Given the description of an element on the screen output the (x, y) to click on. 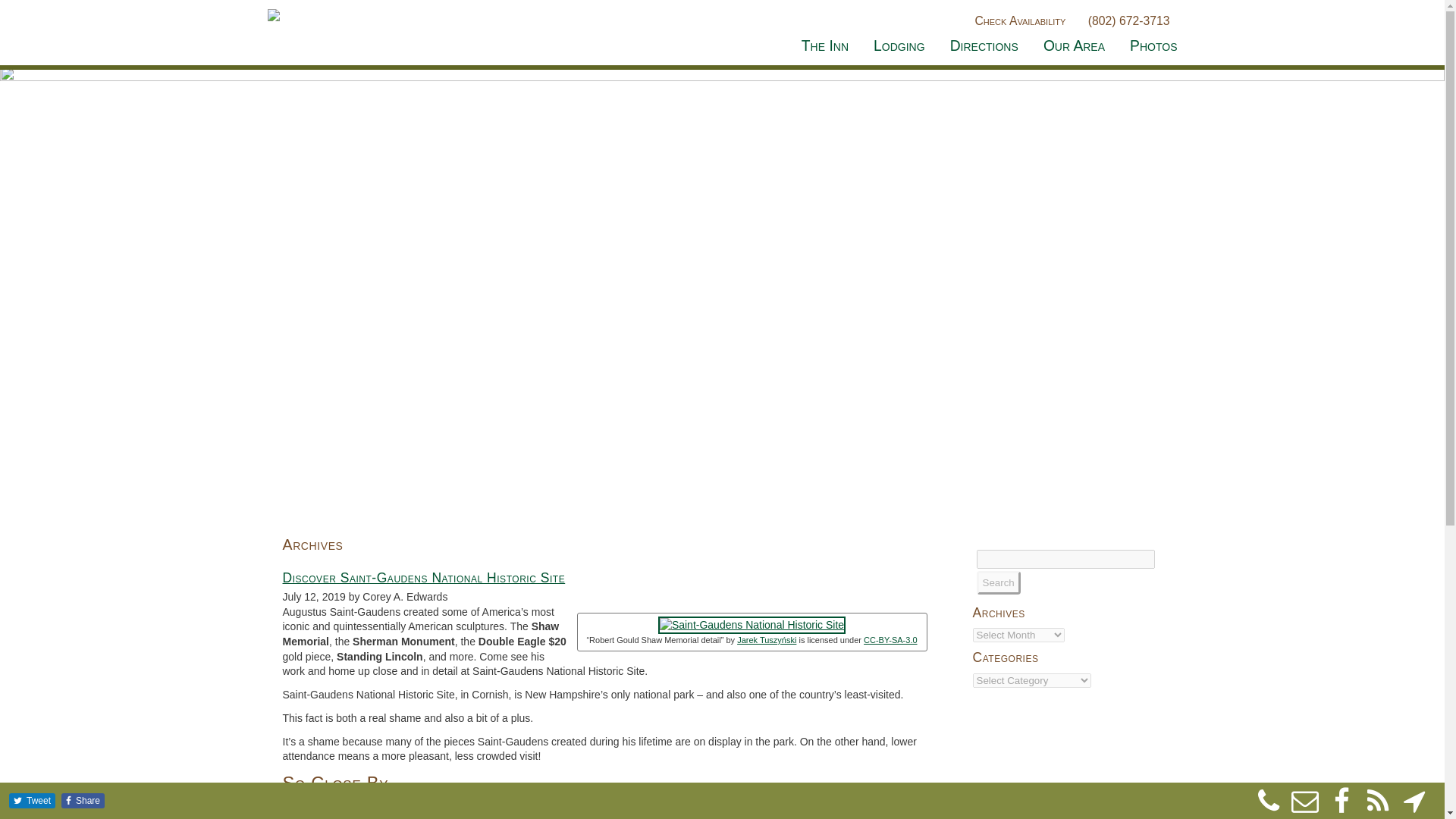
CC-BY-SA-3.0 (890, 639)
Search (998, 582)
Photos (1147, 46)
Check Availability (1018, 20)
Our Area (1074, 46)
Check Availability (1018, 20)
Phone Number (1127, 20)
Lodging (898, 46)
Discover Saint-Gaudens National Historic Site (423, 577)
Search (998, 582)
Deer Brook Inn (833, 802)
Directions (984, 46)
The Inn (825, 46)
